Given the description of an element on the screen output the (x, y) to click on. 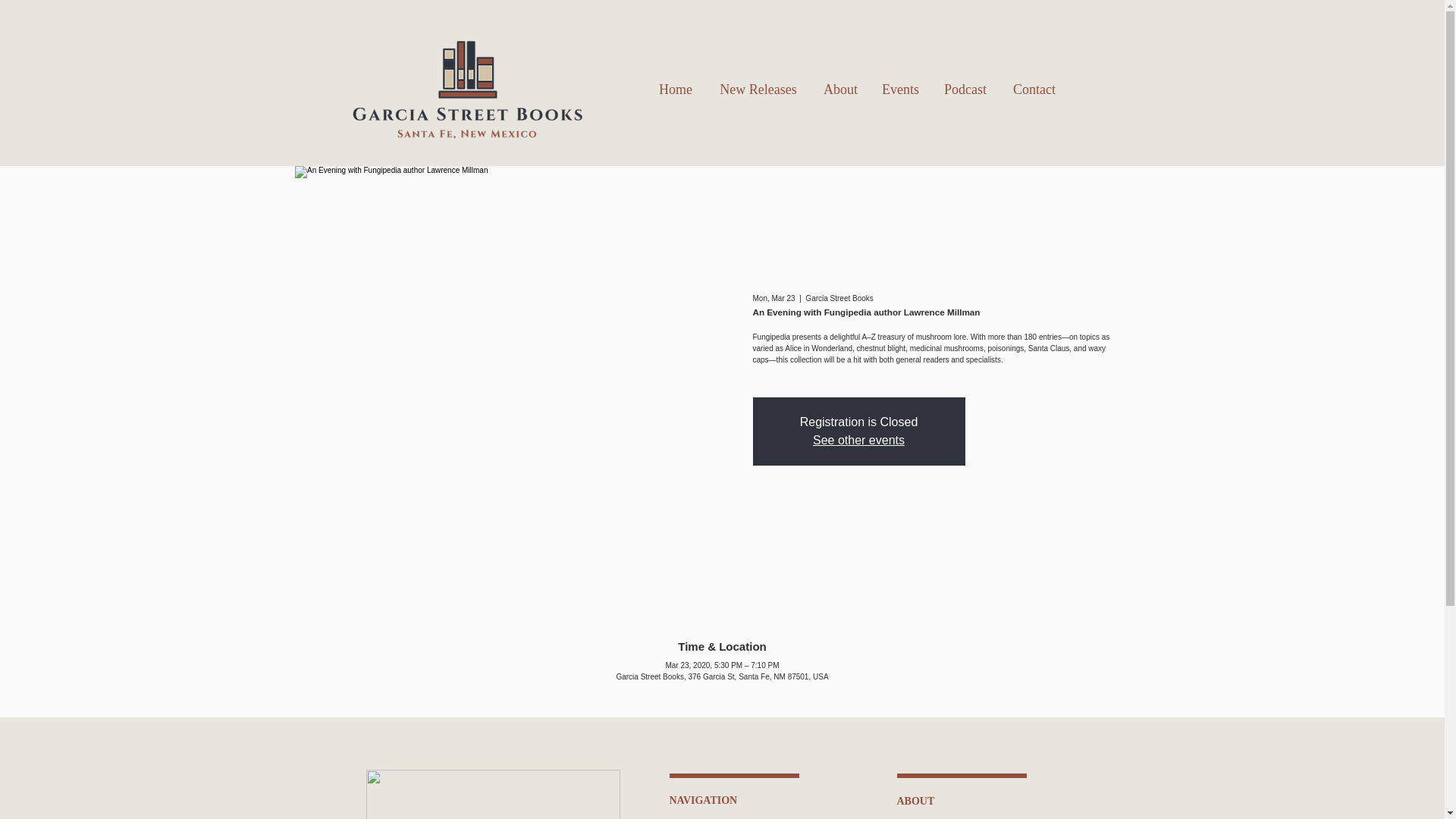
Home (675, 89)
Contact (1033, 89)
Events (900, 89)
See other events (858, 440)
Podcast (964, 89)
New Releases (757, 89)
About (839, 89)
